Given the description of an element on the screen output the (x, y) to click on. 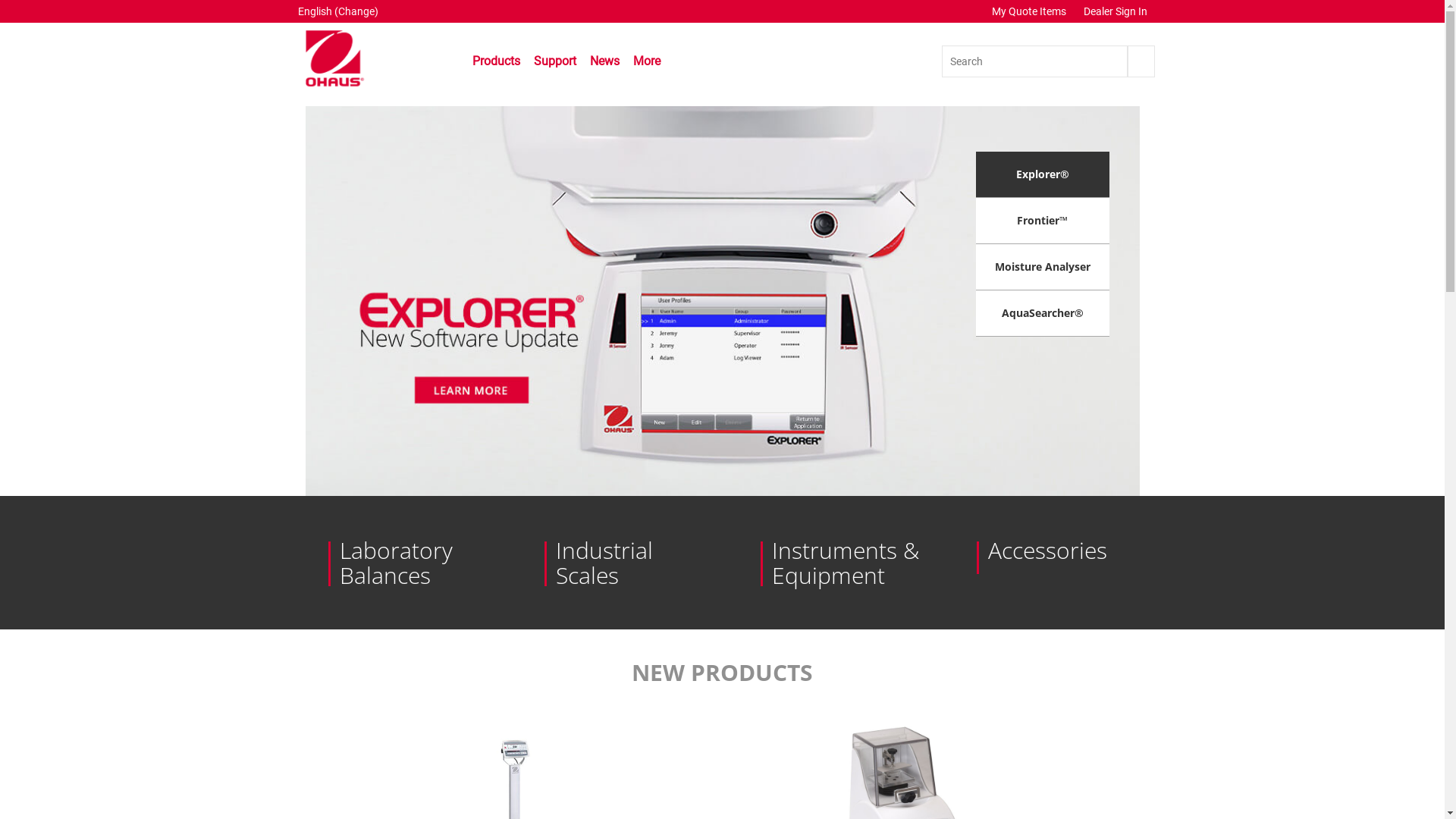
News Element type: text (604, 60)
  Products Element type: text (493, 66)
  Element type: text (1140, 61)
More   Element type: text (649, 66)
Dealer Sign In Element type: text (1114, 11)
My Quote Items Element type: text (1029, 11)
Industrial Scales Element type: text (629, 562)
Moisture Analyser Element type: text (1042, 266)
Accessories Element type: text (1061, 550)
Instruments & Equipment Element type: text (844, 562)
Support Element type: text (554, 60)
(Change) Element type: text (355, 11)
Laboratory Balances Element type: text (412, 562)
